Given the description of an element on the screen output the (x, y) to click on. 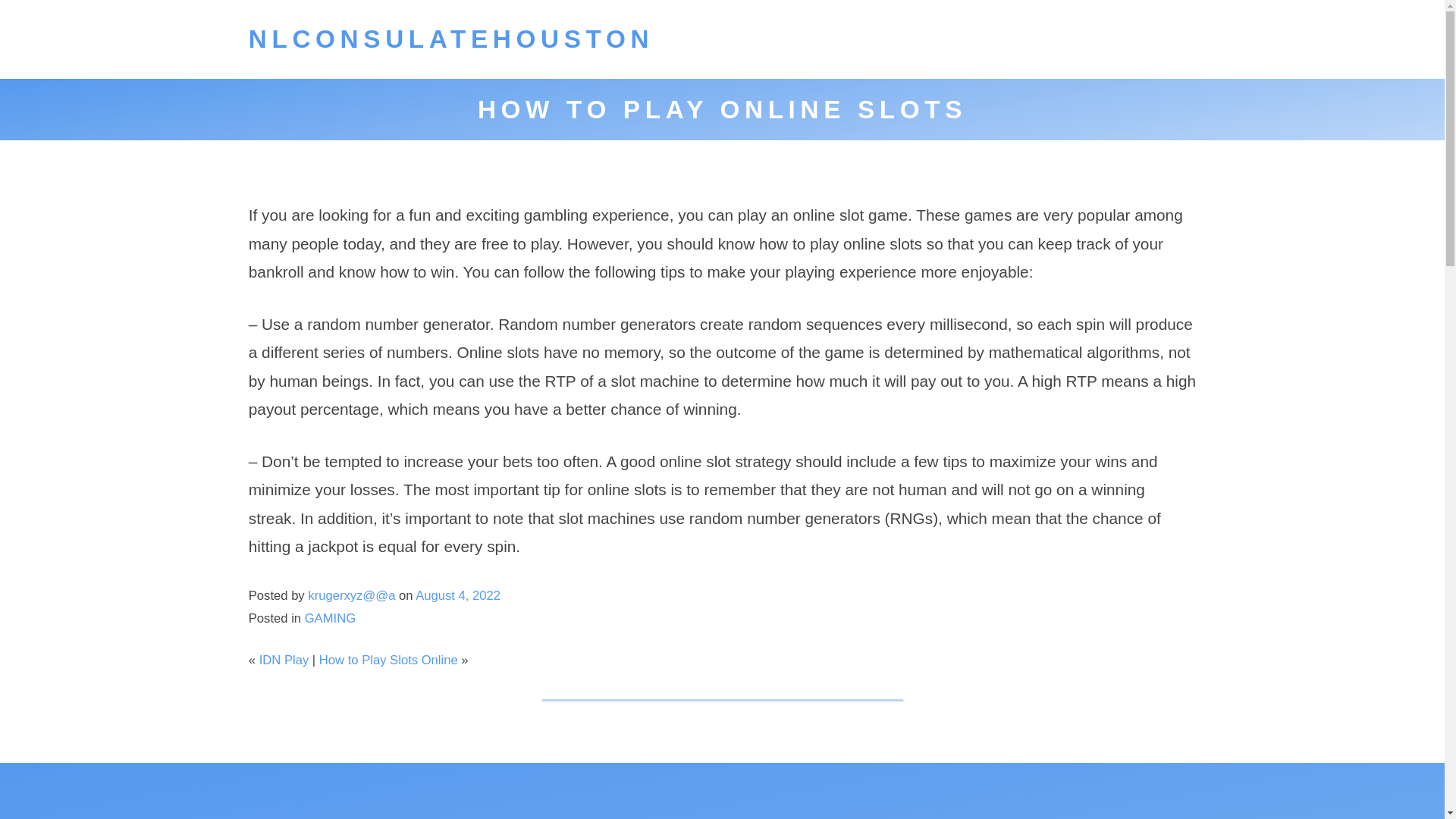
NLCONSULATEHOUSTON (450, 39)
How to Play Slots Online (388, 659)
August 4, 2022 (457, 595)
IDN Play (283, 659)
GAMING (329, 617)
